Given the description of an element on the screen output the (x, y) to click on. 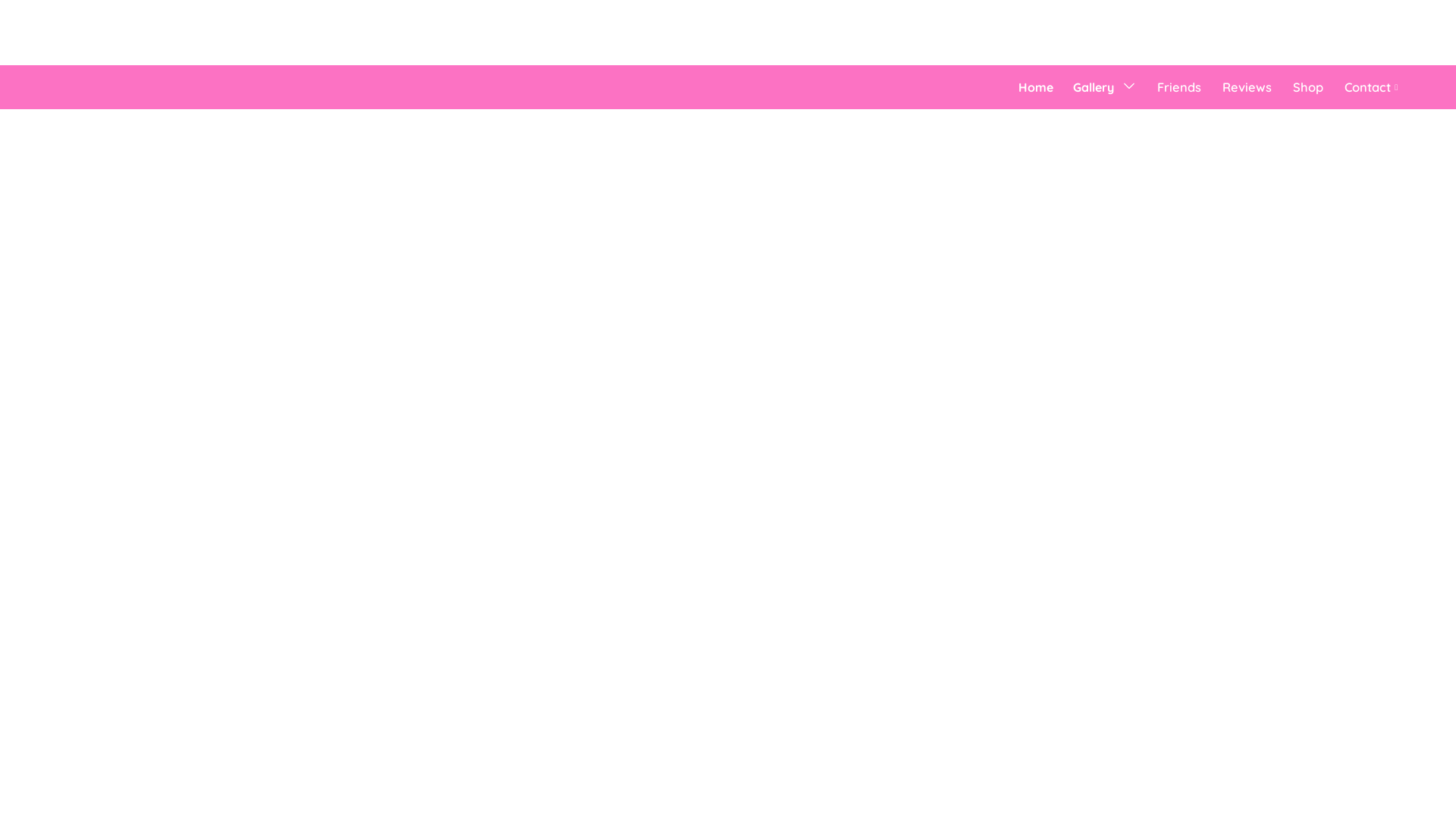
Reviews Element type: text (1246, 87)
Home Element type: text (1035, 87)
Shop Element type: text (1307, 87)
Contact Element type: text (1372, 87)
Friends Element type: text (1178, 87)
